Given the description of an element on the screen output the (x, y) to click on. 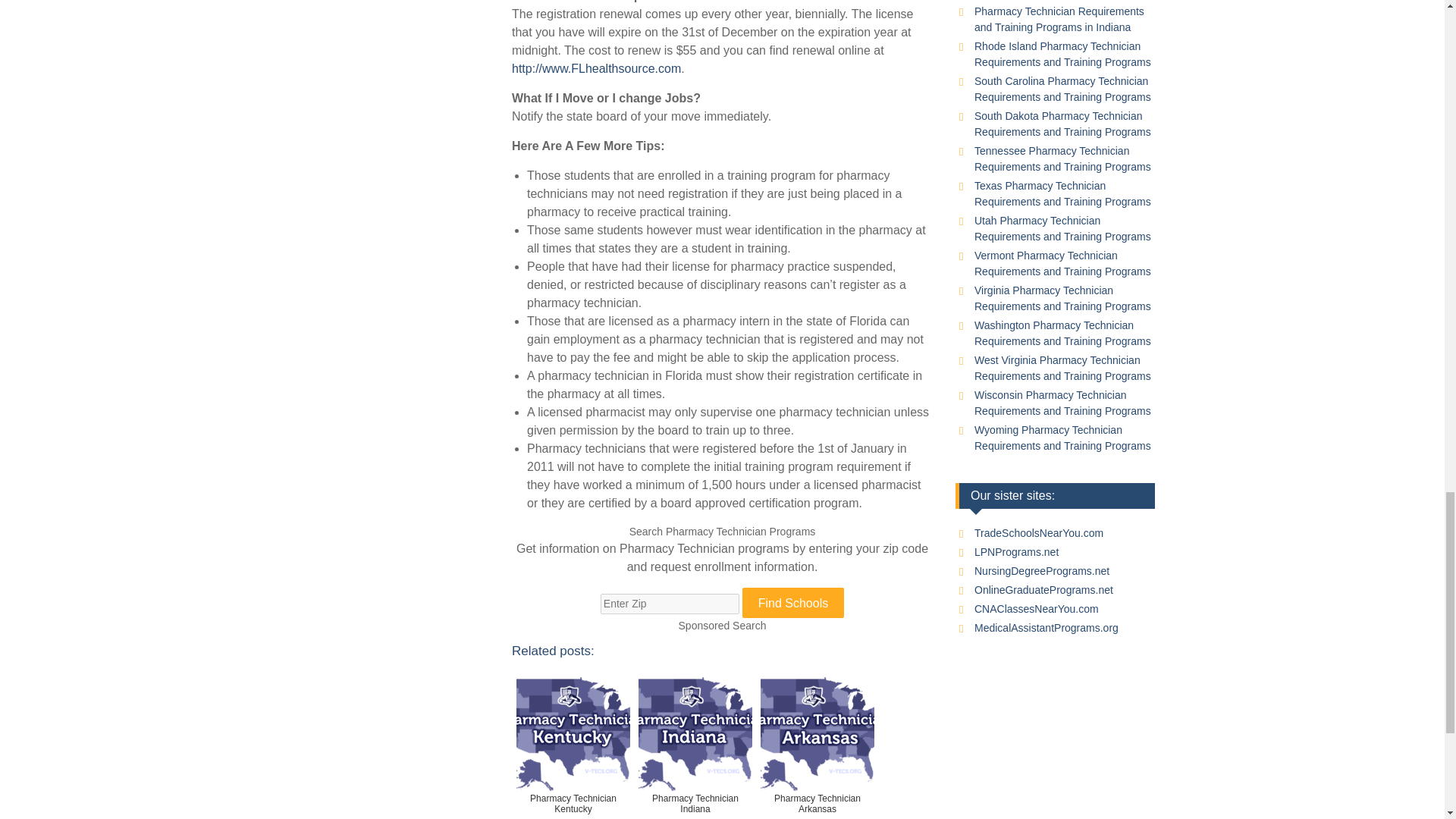
Find Schools (793, 603)
